Given the description of an element on the screen output the (x, y) to click on. 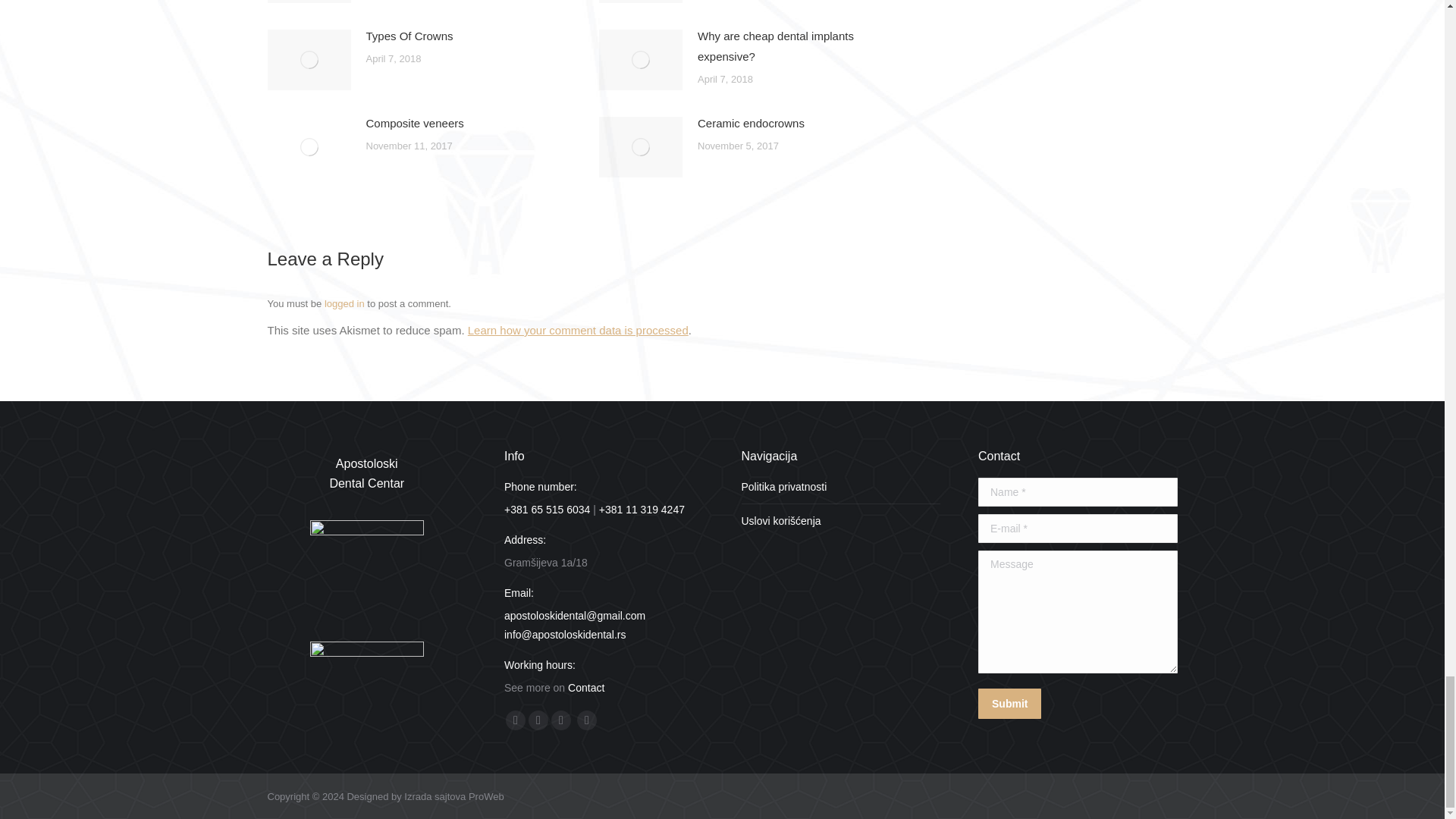
submit (1080, 704)
